Given the description of an element on the screen output the (x, y) to click on. 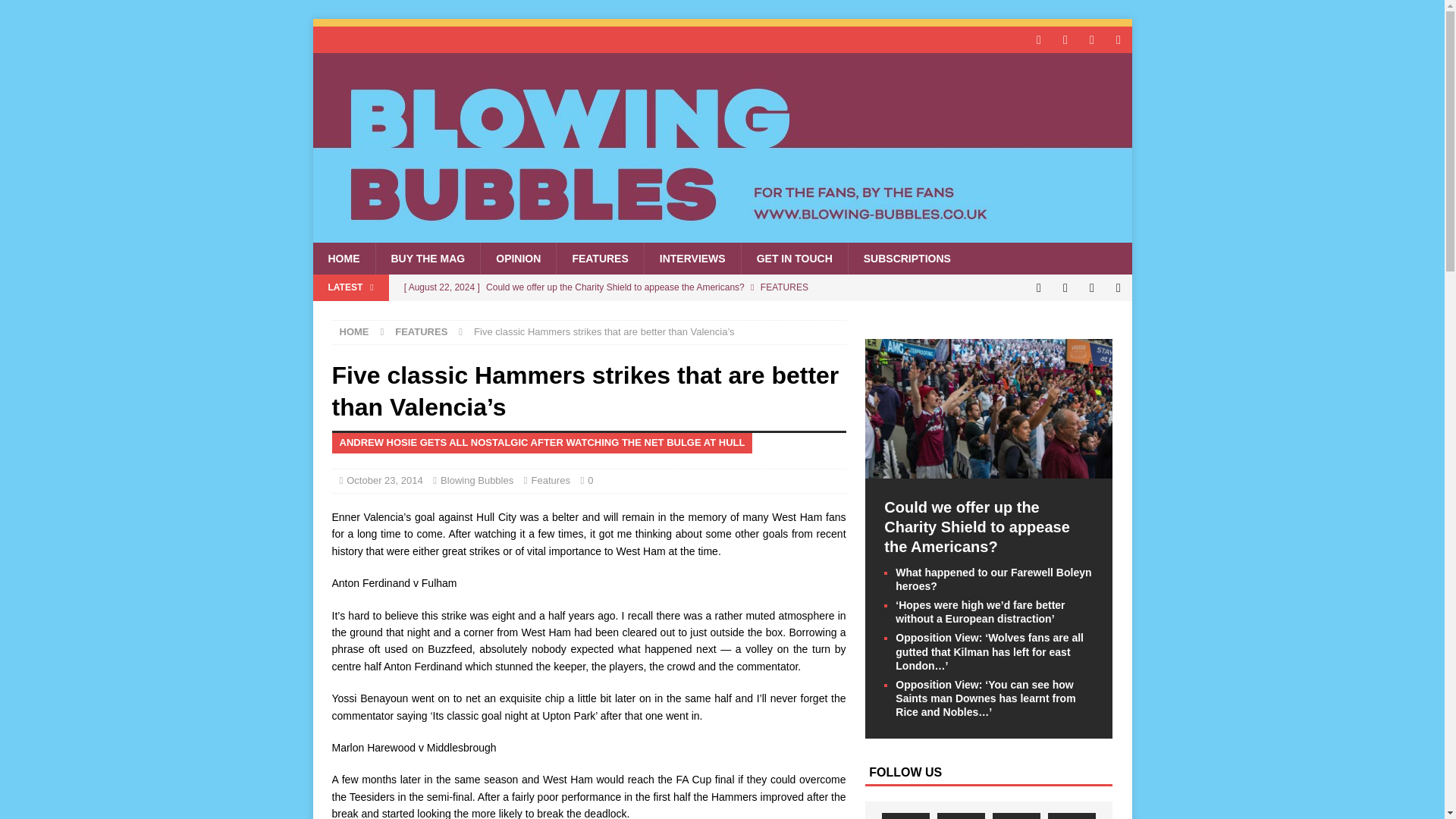
HOME (354, 331)
October 23, 2014 (384, 480)
HOME (343, 258)
GET IN TOUCH (794, 258)
INTERVIEWS (692, 258)
Blowing Bubbles (722, 234)
Features (550, 480)
Blowing Bubbles (477, 480)
FEATURES (420, 331)
